Given the description of an element on the screen output the (x, y) to click on. 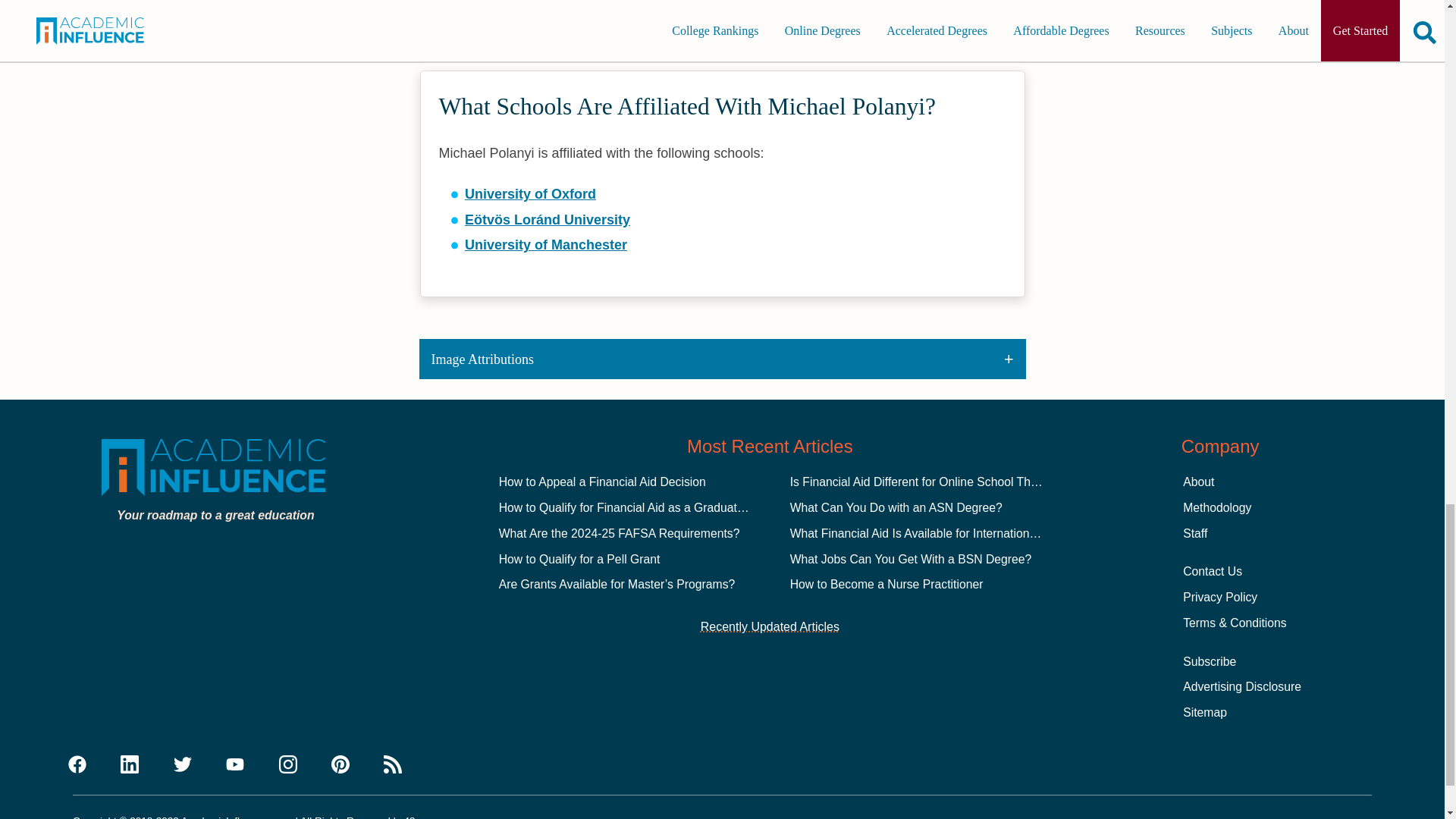
Recently Updated Articles (770, 627)
What Can You Do with an ASN Degree? (896, 507)
How to Become a Nurse Practitioner (887, 584)
What Financial Aid Is Available for International Students? (943, 533)
Contact Us (1211, 571)
University of Manchester (545, 244)
What Jobs Can You Get With a BSN Degree? (911, 558)
About (1198, 481)
How to Qualify for a Pell Grant (580, 558)
Is Financial Aid Different for Online School Than In-Person? (947, 481)
How to Appeal a Financial Aid Decision (602, 481)
University of Oxford (529, 193)
Privacy Policy (1219, 596)
What Are the 2024-25 FAFSA Requirements? (619, 533)
Methodology (1216, 507)
